Given the description of an element on the screen output the (x, y) to click on. 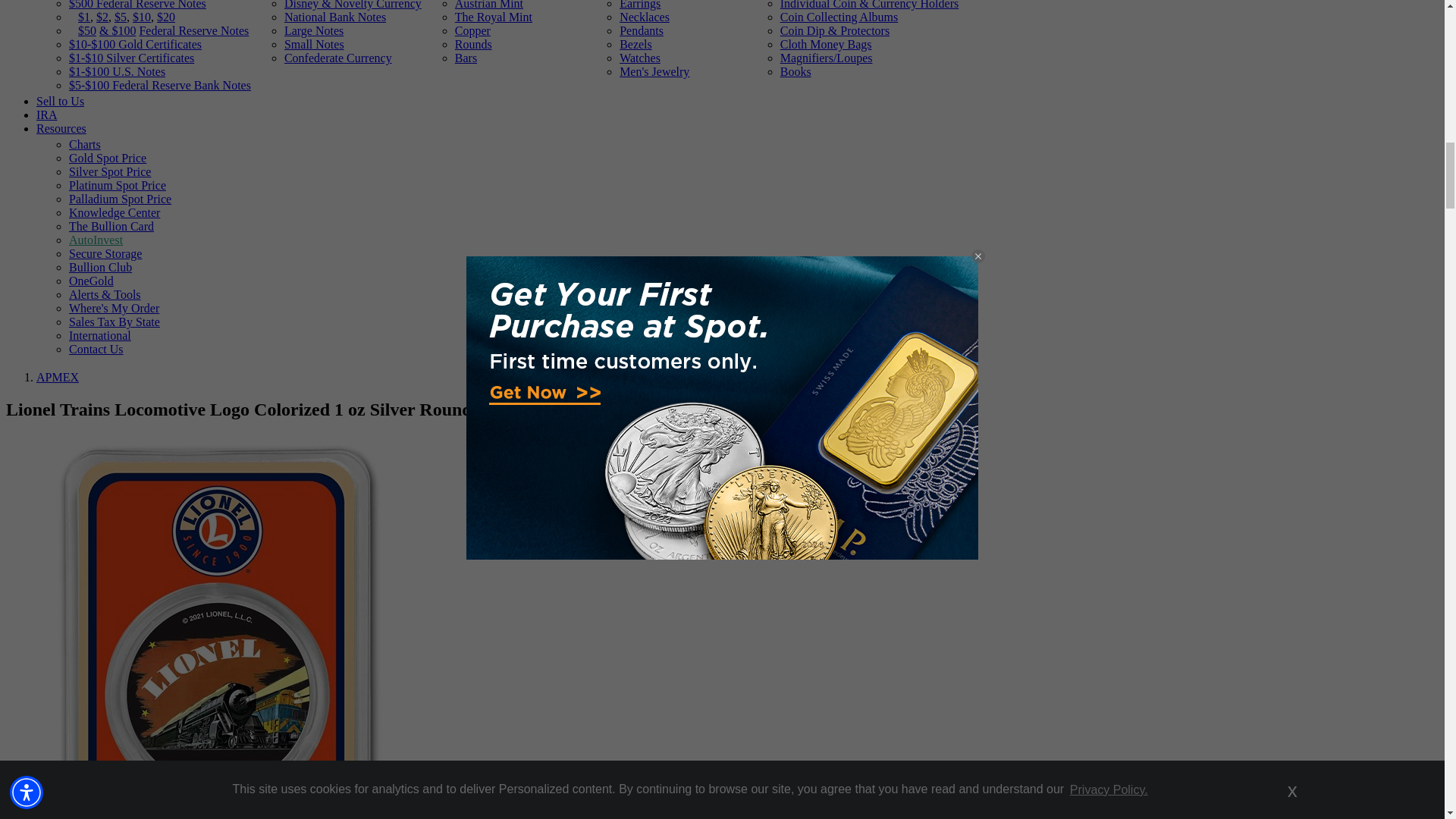
Home (57, 377)
